Given the description of an element on the screen output the (x, y) to click on. 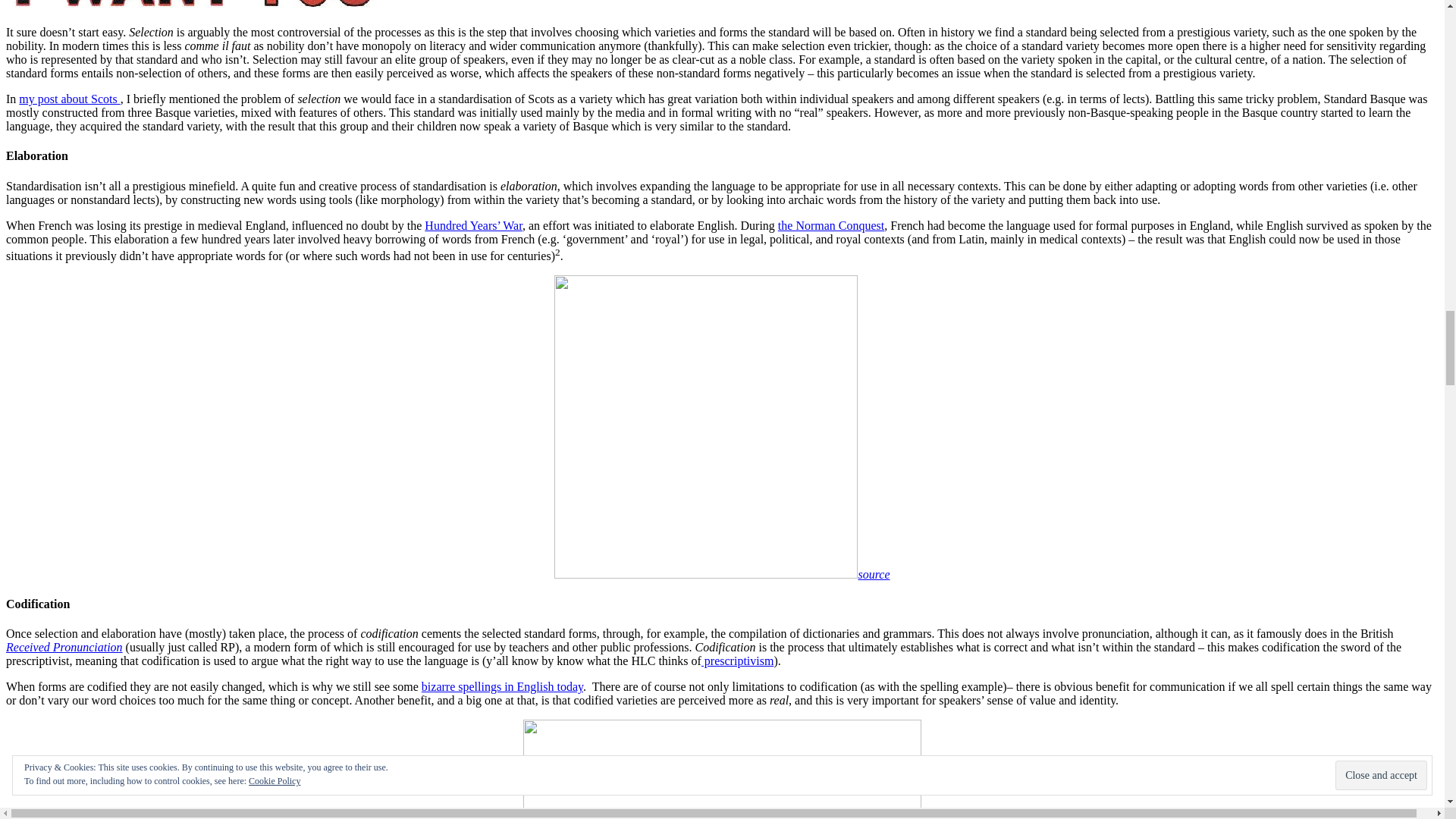
the Norman Conquest (830, 225)
source (873, 574)
Received Pronunciation (63, 646)
prescriptivism (737, 660)
my post about Scots (68, 98)
bizarre spellings in English today (502, 686)
